Given the description of an element on the screen output the (x, y) to click on. 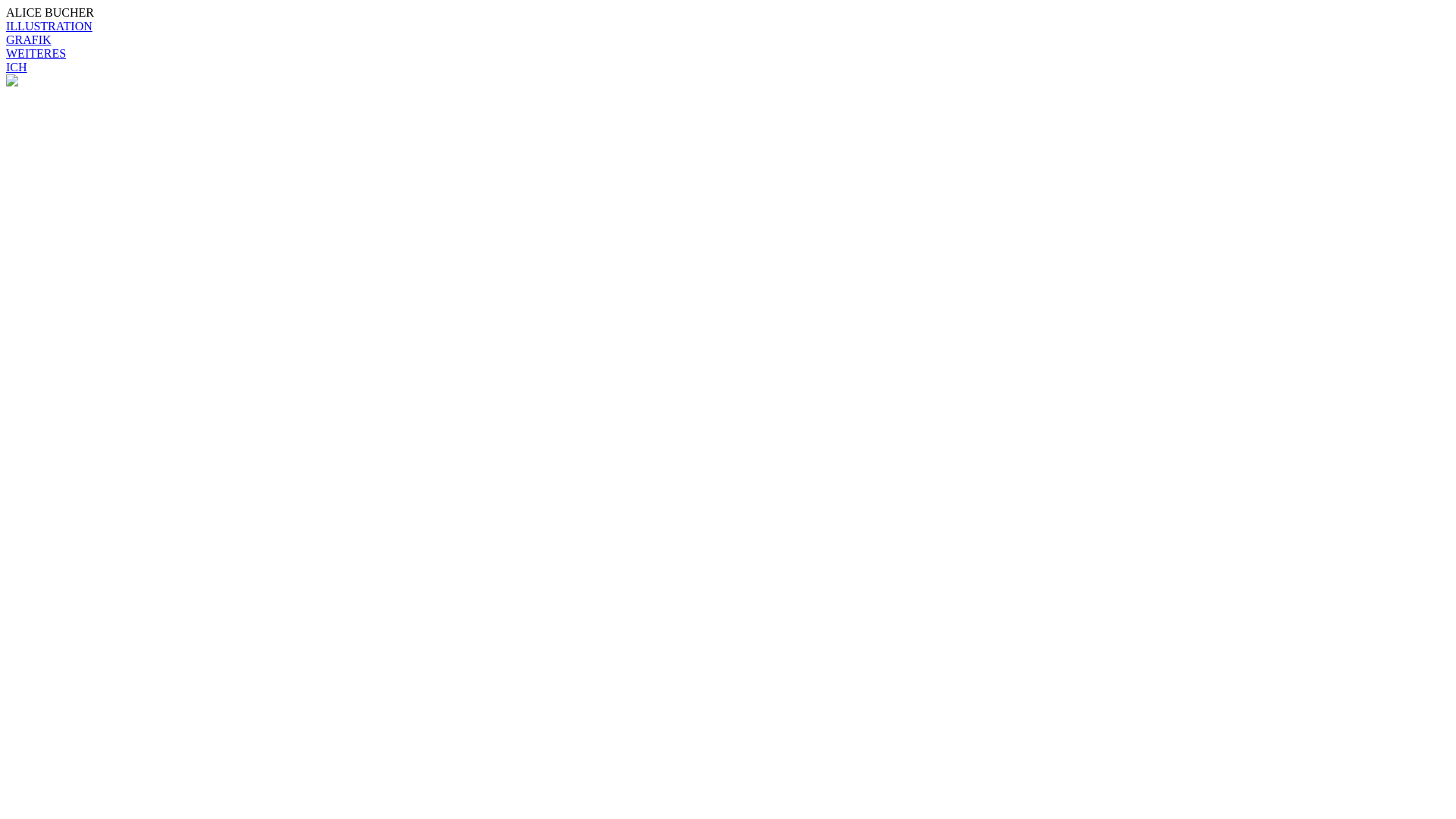
ICH Element type: text (16, 66)
GRAFIK Element type: text (28, 39)
ILLUSTRATION Element type: text (49, 25)
WEITERES Element type: text (35, 53)
